Given the description of an element on the screen output the (x, y) to click on. 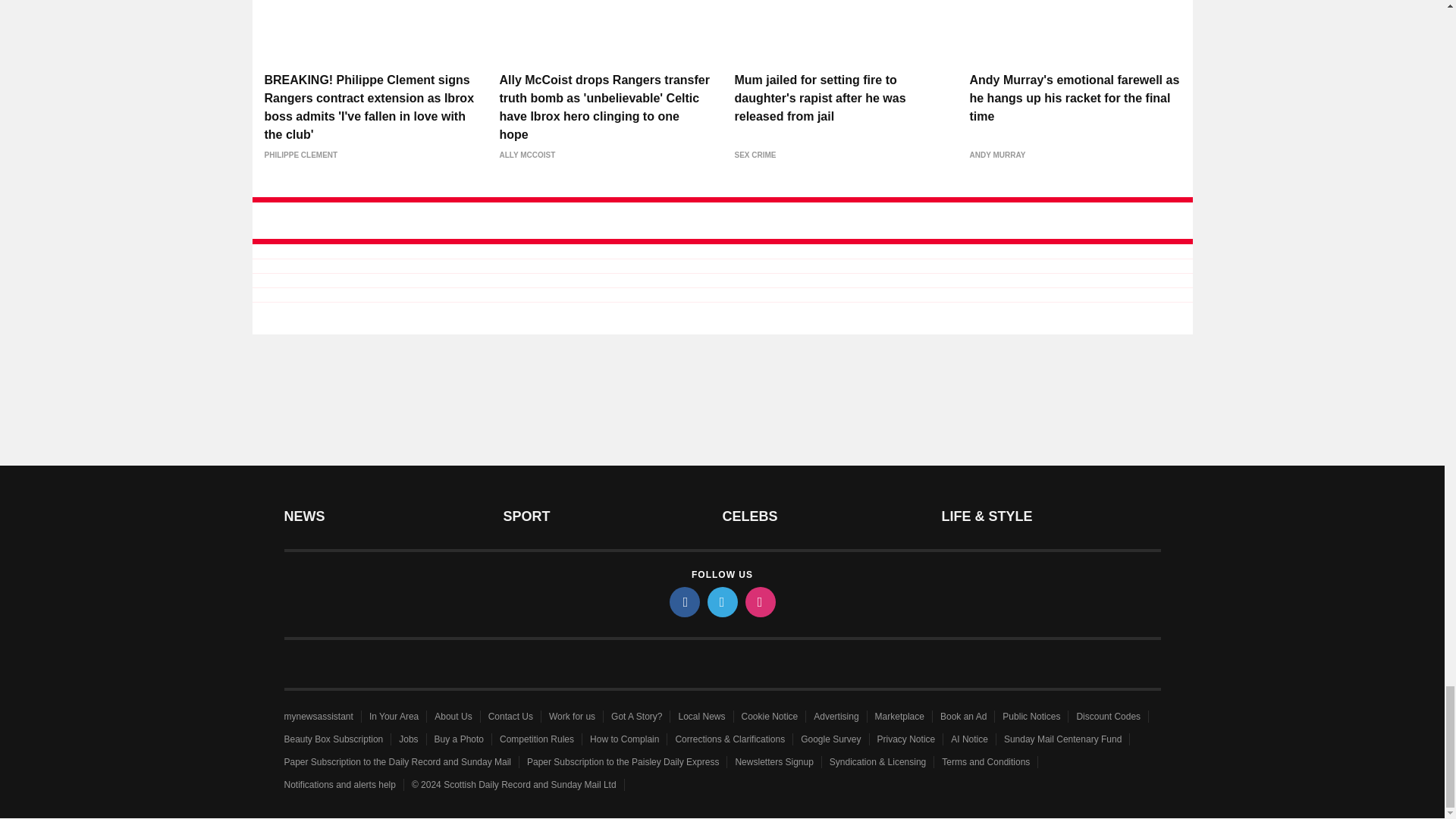
facebook (683, 603)
instagram (759, 603)
twitter (721, 603)
